Given the description of an element on the screen output the (x, y) to click on. 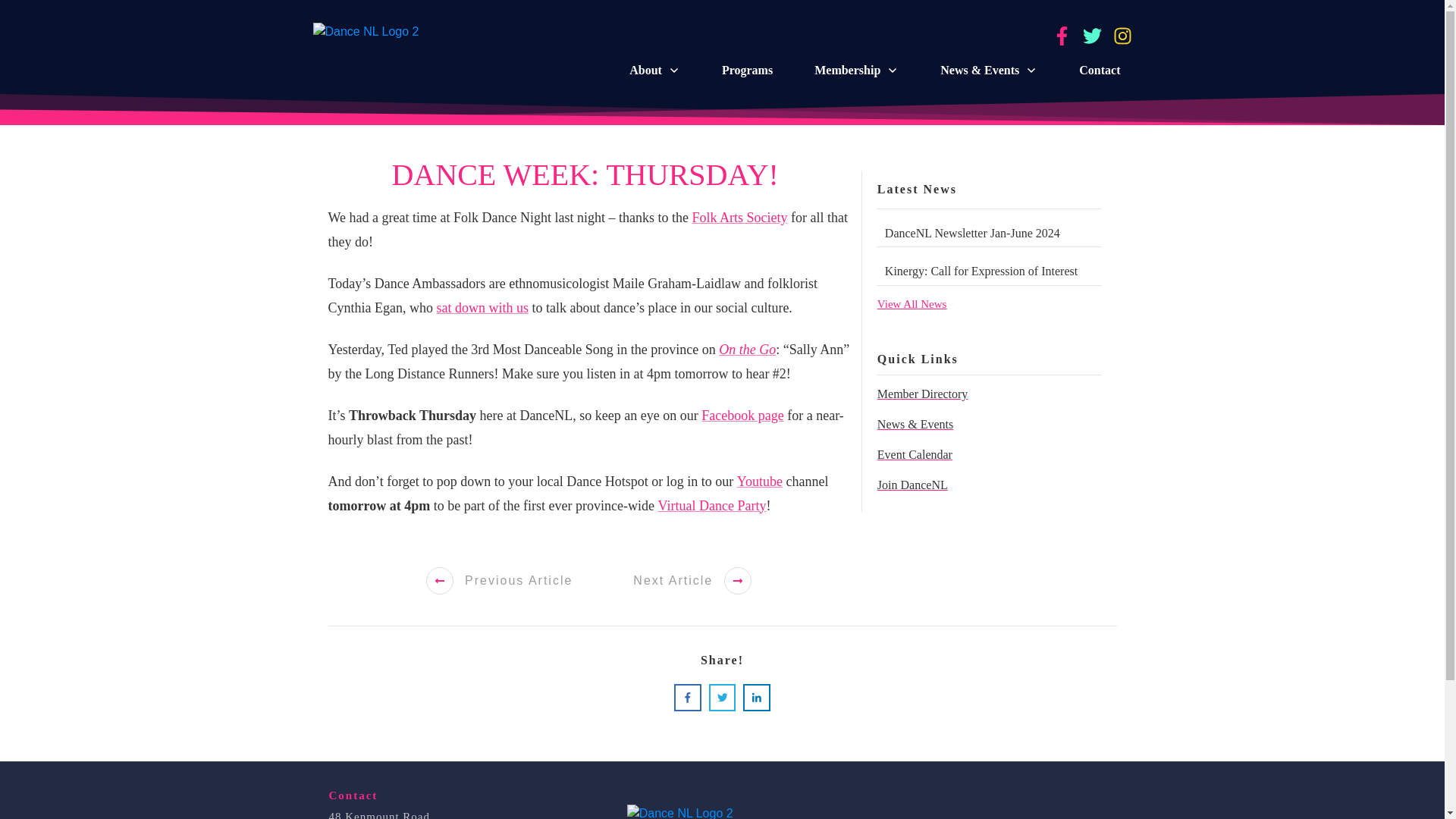
Virtual Dance Party (712, 504)
Next Article (691, 580)
Previous Article (499, 580)
Contact (1098, 70)
View All News (912, 304)
Membership (855, 70)
sat down with us (481, 307)
Join DanceNL (912, 484)
DanceNL Newsletter Jan-June 2024 (972, 232)
Kinergy: Call for Expression of Interest (981, 270)
Facebook page (742, 415)
Event Calendar (914, 454)
Programs (747, 70)
Kinergy: Call for Expression of Interest (981, 270)
DanceNL Newsletter Jan-June 2024 (972, 232)
